Given the description of an element on the screen output the (x, y) to click on. 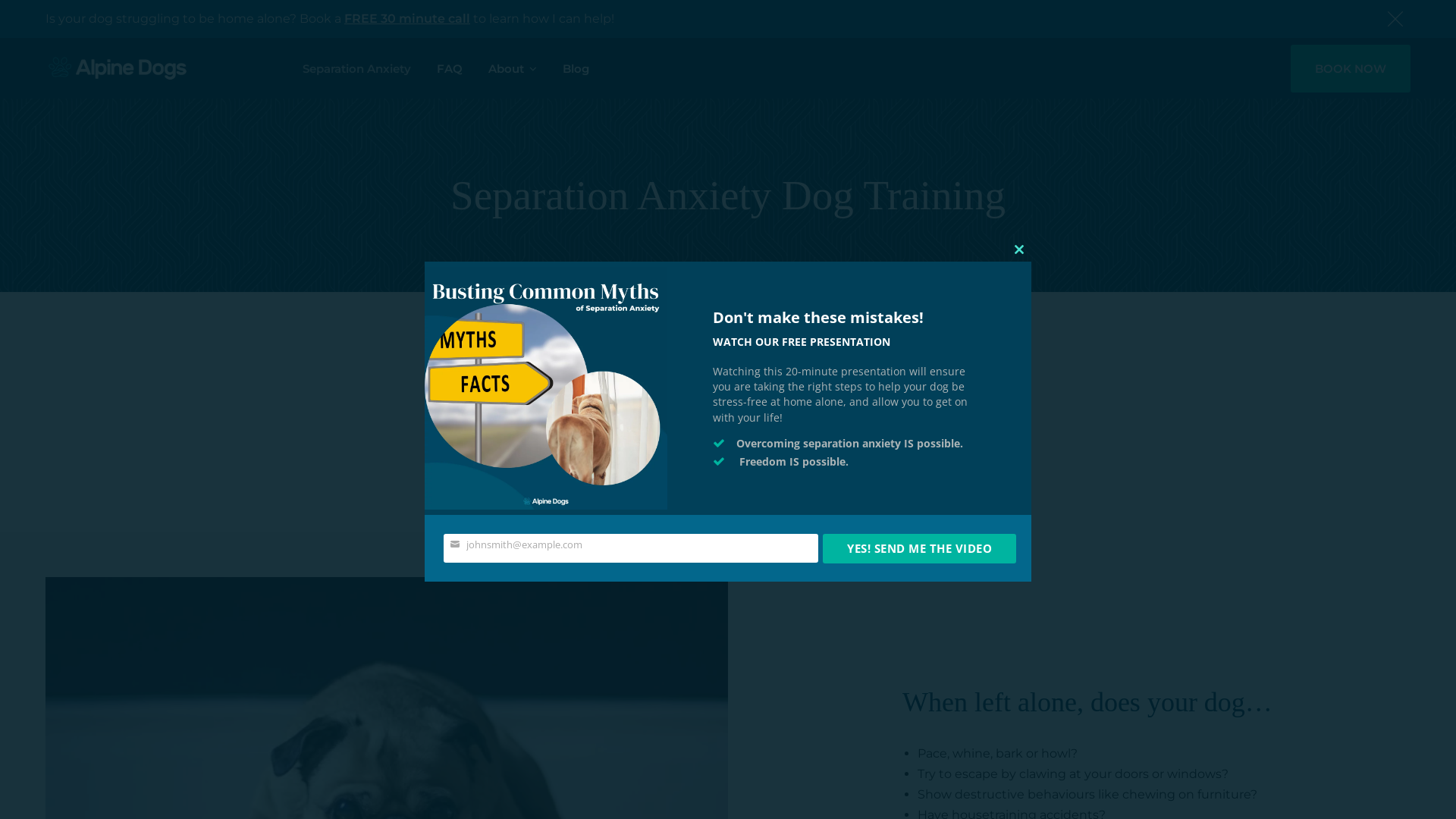
About Element type: text (512, 67)
FAQ Element type: text (449, 67)
FREE 30 minute call Element type: text (407, 18)
Separation Anxiety Element type: text (356, 67)
Close this module Element type: text (1019, 249)
BOOK NOW Element type: text (1350, 67)
Blog Element type: text (575, 67)
YES! SEND ME THE VIDEO Element type: text (919, 548)
